Given the description of an element on the screen output the (x, y) to click on. 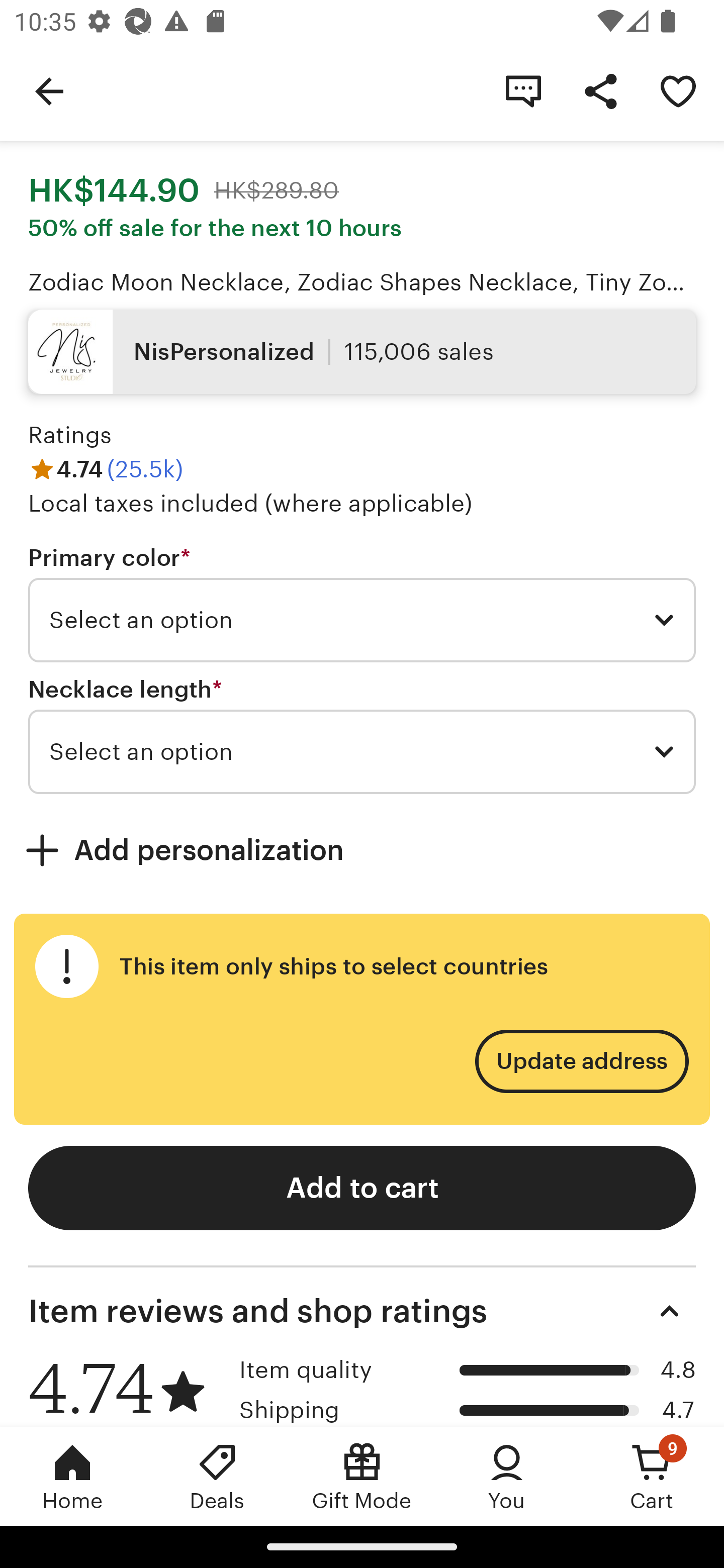
Navigate up (49, 90)
Contact shop (523, 90)
Share (600, 90)
NisPersonalized 115,006 sales (361, 350)
Ratings (70, 434)
4.74 (25.5k) (105, 468)
Primary color * Required Select an option (361, 602)
Select an option (361, 619)
Necklace length * Required Select an option (361, 734)
Select an option (361, 751)
Add personalization Add personalization Required (362, 849)
Update address (581, 1061)
Add to cart (361, 1188)
Item reviews and shop ratings (362, 1310)
Deals (216, 1475)
Gift Mode (361, 1475)
You (506, 1475)
Cart, 9 new notifications Cart (651, 1475)
